Given the description of an element on the screen output the (x, y) to click on. 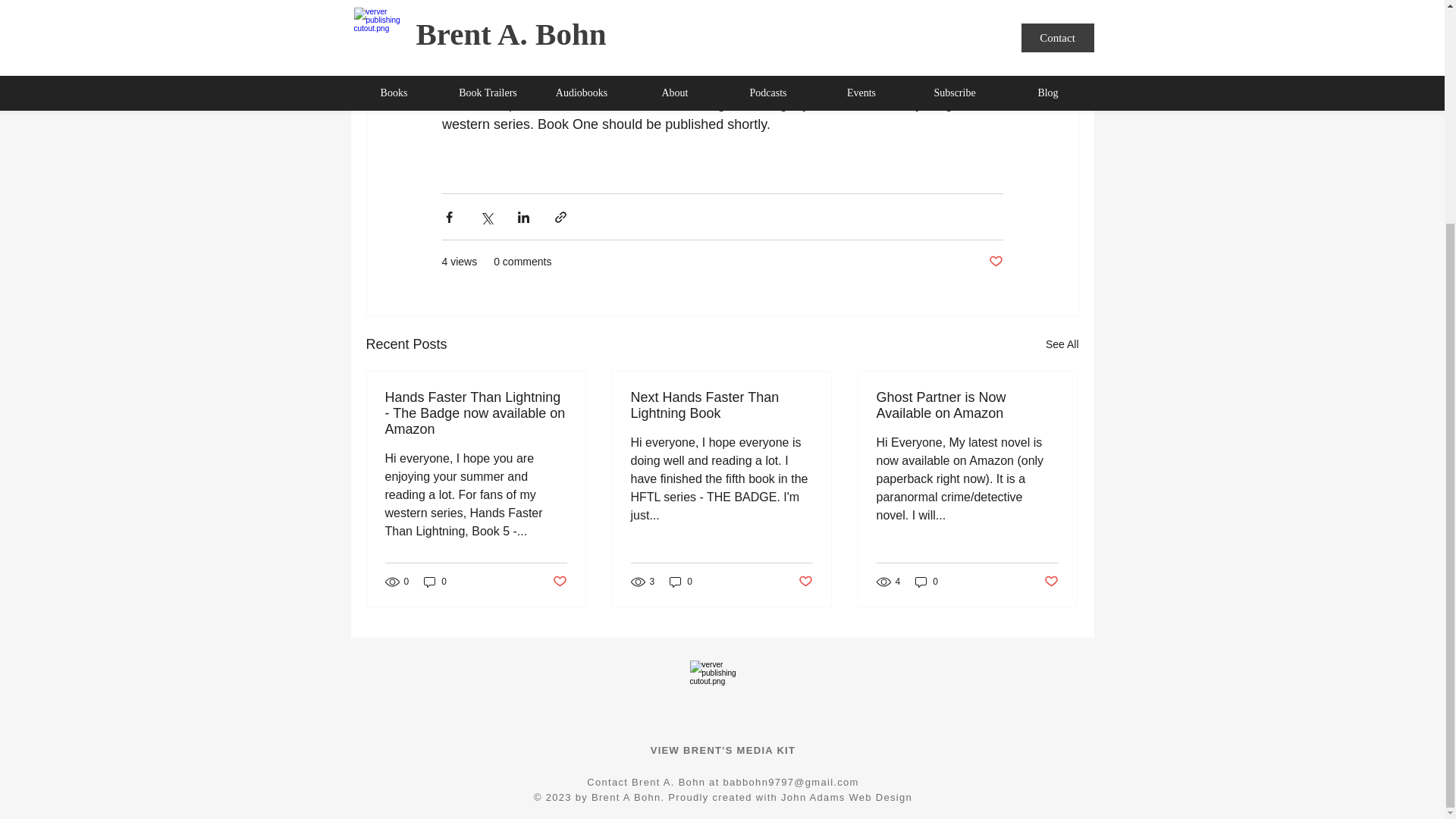
0 (681, 581)
Next Hands Faster Than Lightning Book (721, 405)
0 (435, 581)
Ghost Partner is Now Available on Amazon (967, 405)
0 (926, 581)
Post not marked as liked (804, 581)
Post not marked as liked (995, 261)
See All (1061, 344)
Post not marked as liked (558, 581)
